Given the description of an element on the screen output the (x, y) to click on. 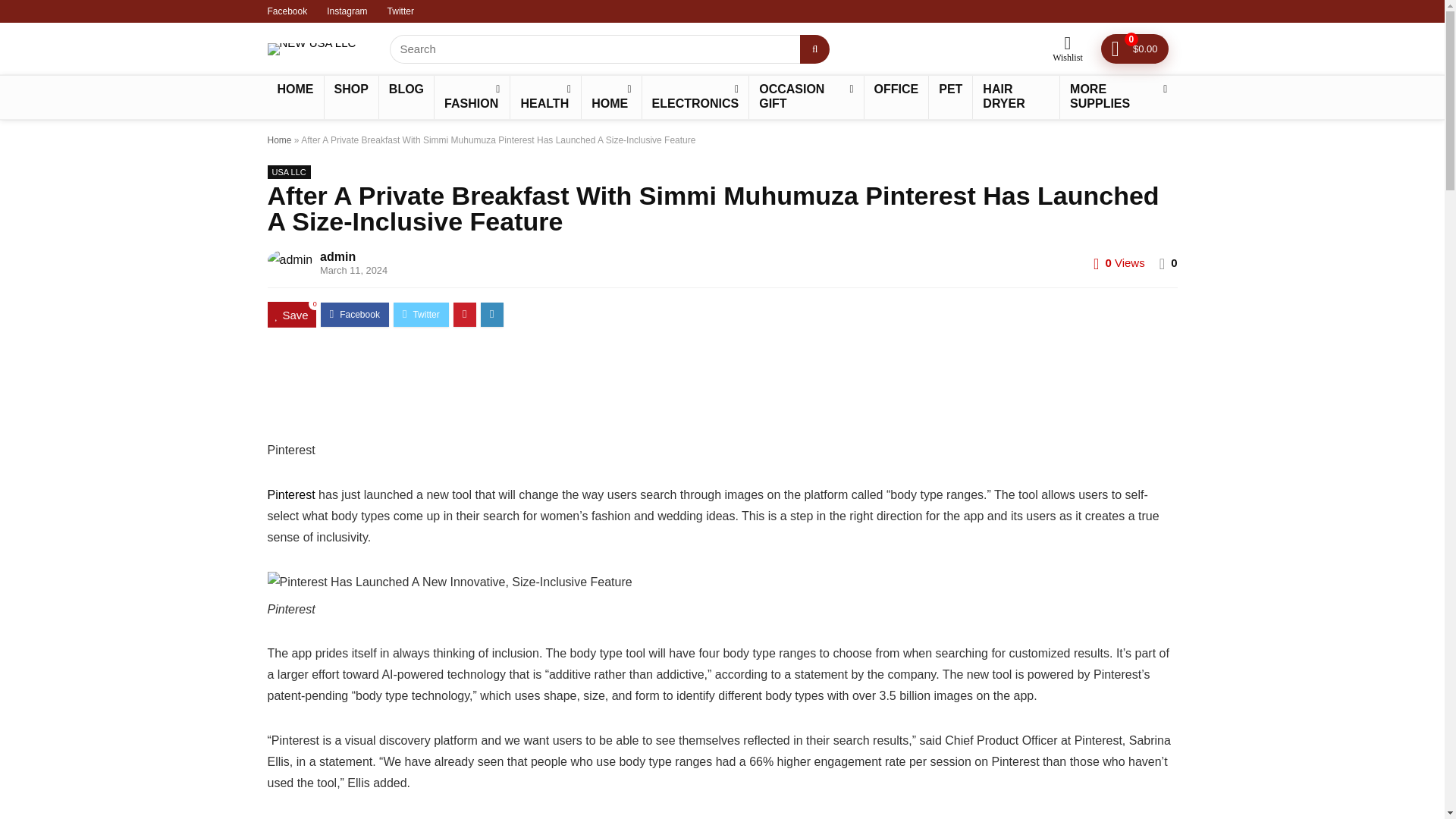
FASHION (471, 97)
View all posts in USA LLC (288, 172)
SHOP (351, 90)
BLOG (405, 90)
ELECTRONICS (695, 97)
Facebook (286, 10)
Instagram (346, 10)
HEALTH (545, 97)
Twitter (400, 10)
HOME (610, 97)
